Given the description of an element on the screen output the (x, y) to click on. 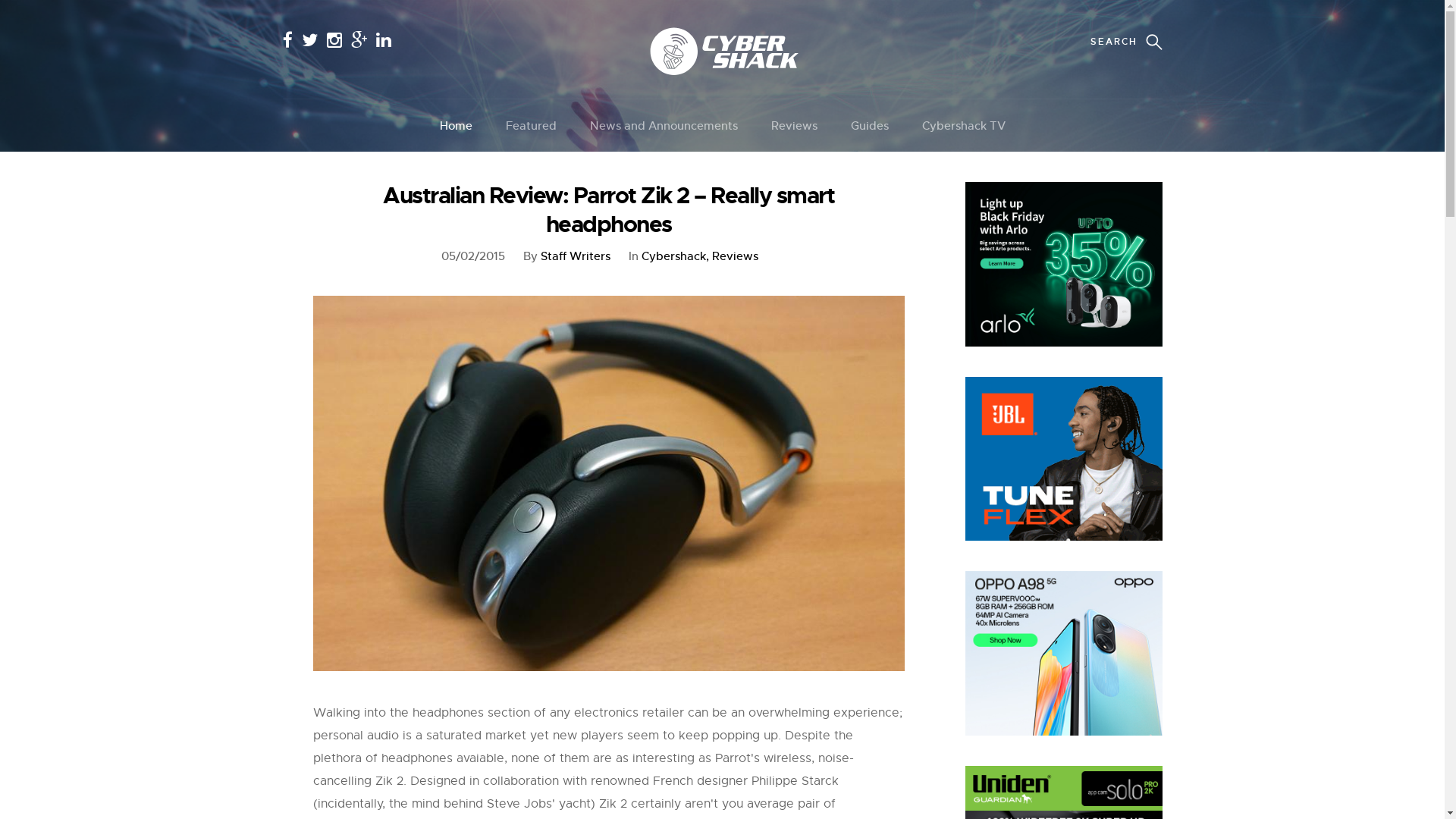
Reviews Element type: text (734, 255)
Cybershack Element type: text (675, 255)
Staff Writers Element type: text (574, 255)
Home Element type: text (455, 125)
Search Element type: text (50, 20)
Guides Element type: text (869, 125)
Cybershack TV Element type: text (963, 125)
Featured Element type: text (530, 125)
Reviews Element type: text (793, 125)
News and Announcements Element type: text (663, 125)
